Given the description of an element on the screen output the (x, y) to click on. 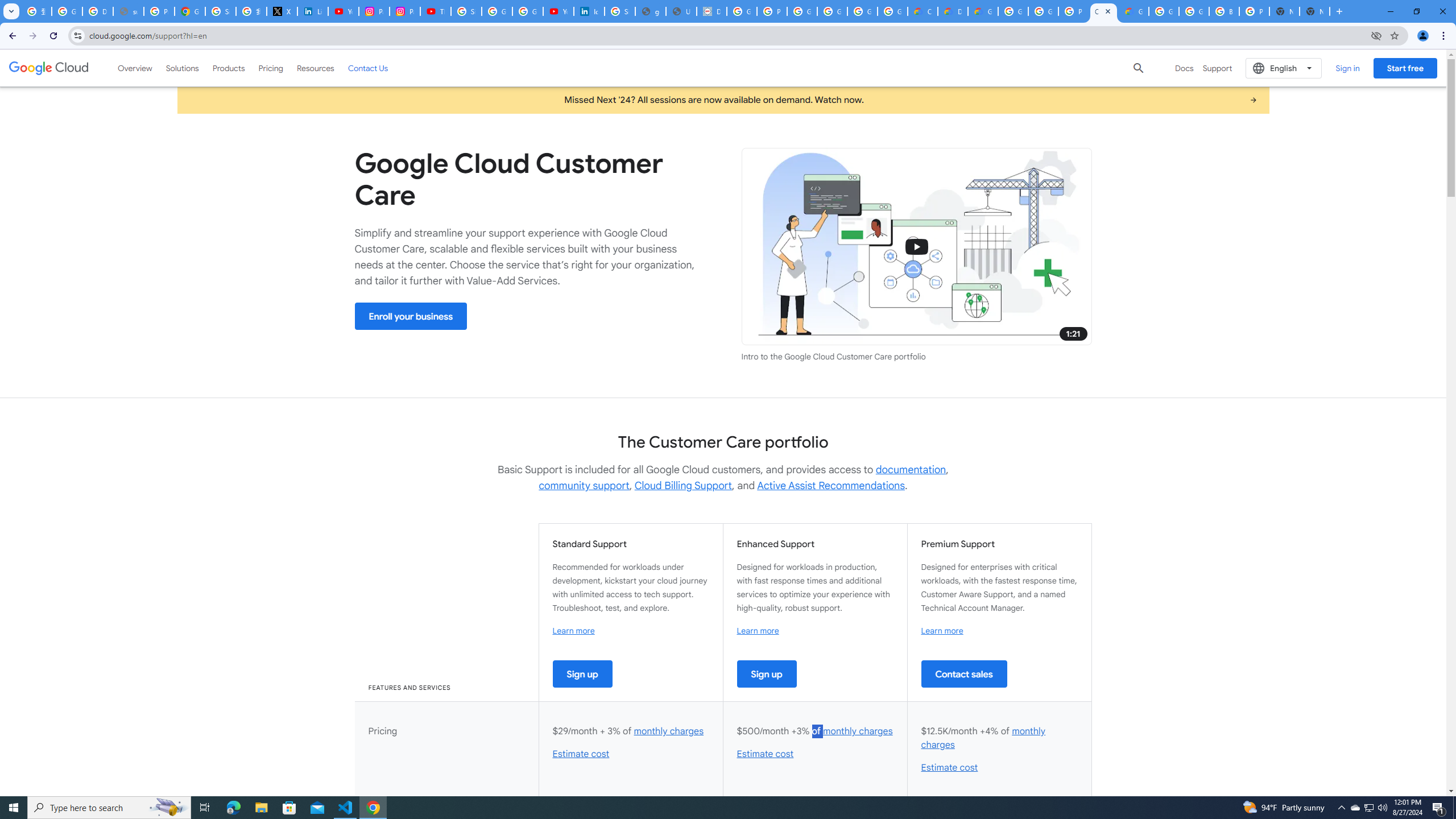
Gemini for Business and Developers | Google Cloud (982, 11)
Contact sales (963, 673)
Start free (1405, 67)
Data Privacy Framework (711, 11)
Google Cloud Service Health (1133, 11)
